Given the description of an element on the screen output the (x, y) to click on. 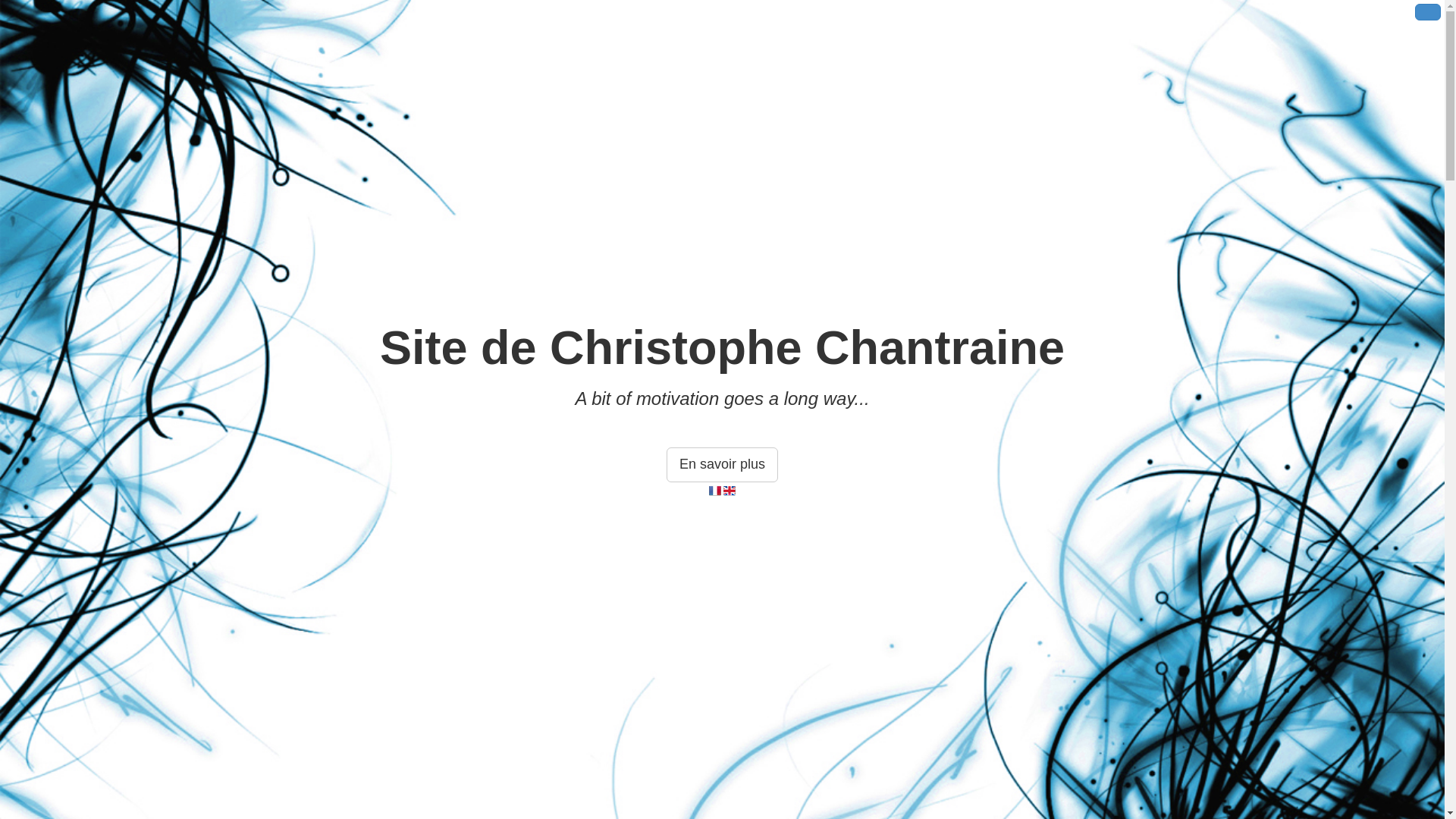
English Element type: hover (729, 490)
En savoir plus Element type: text (722, 464)
